Given the description of an element on the screen output the (x, y) to click on. 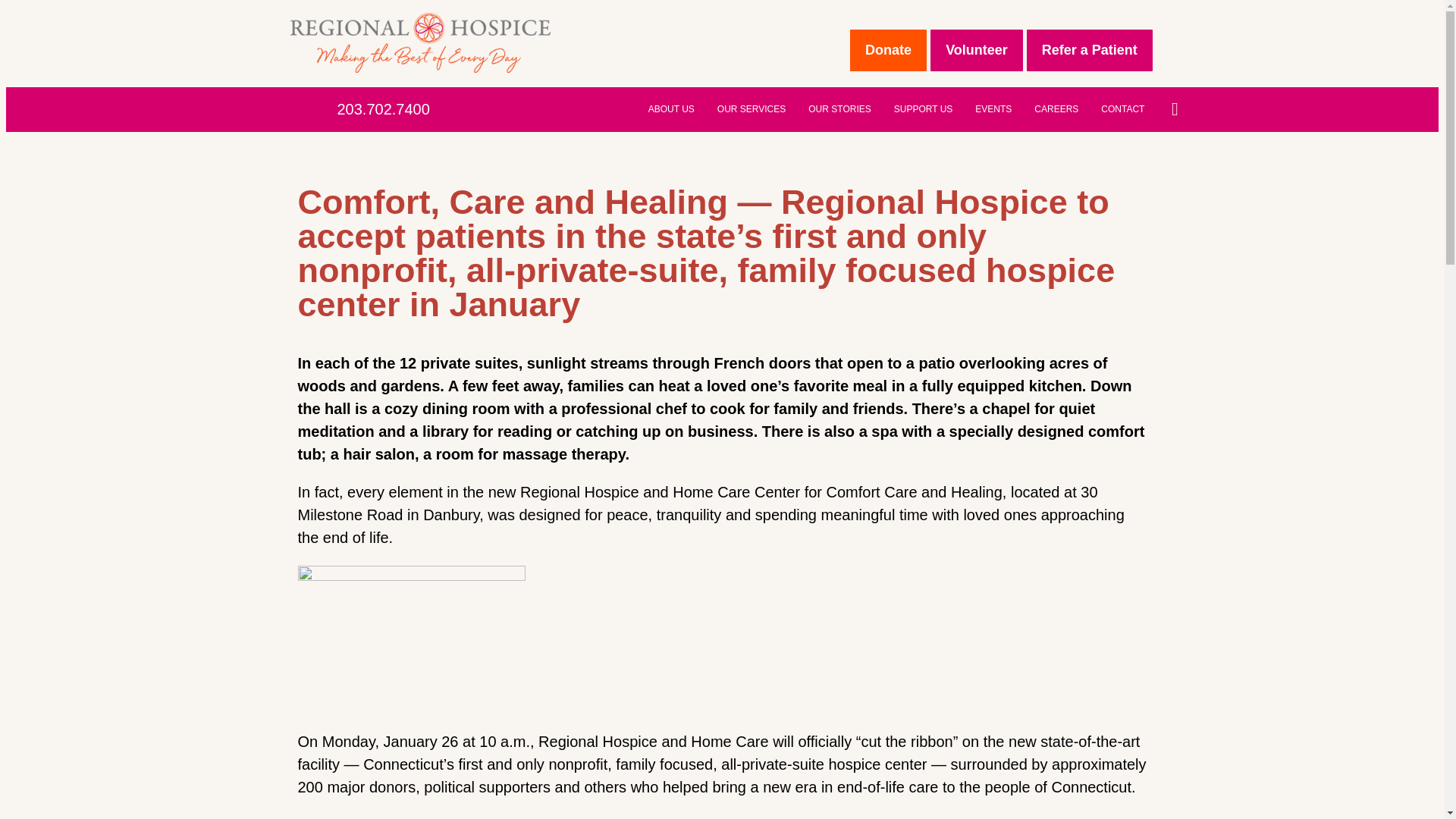
SUPPORT US (922, 108)
OUR STORIES (839, 108)
CAREERS (1056, 108)
CONTACT (1122, 108)
Volunteer (976, 50)
Donate (888, 50)
Refer a Patient (1089, 50)
OUR SERVICES (751, 108)
EVENTS (993, 108)
